Given the description of an element on the screen output the (x, y) to click on. 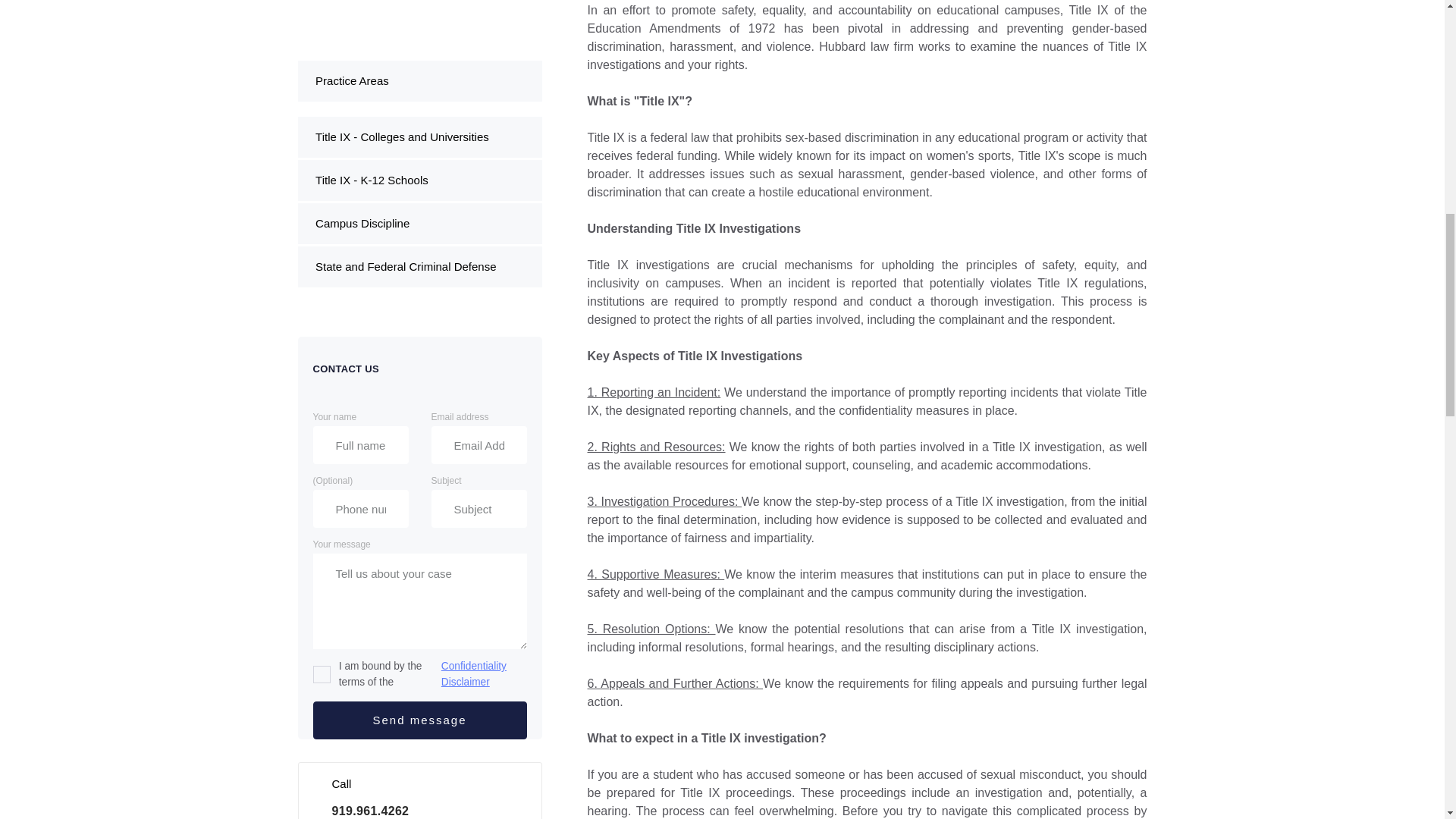
Send message (419, 259)
Confidentiality Disclaimer (480, 214)
Send message (419, 259)
